Given the description of an element on the screen output the (x, y) to click on. 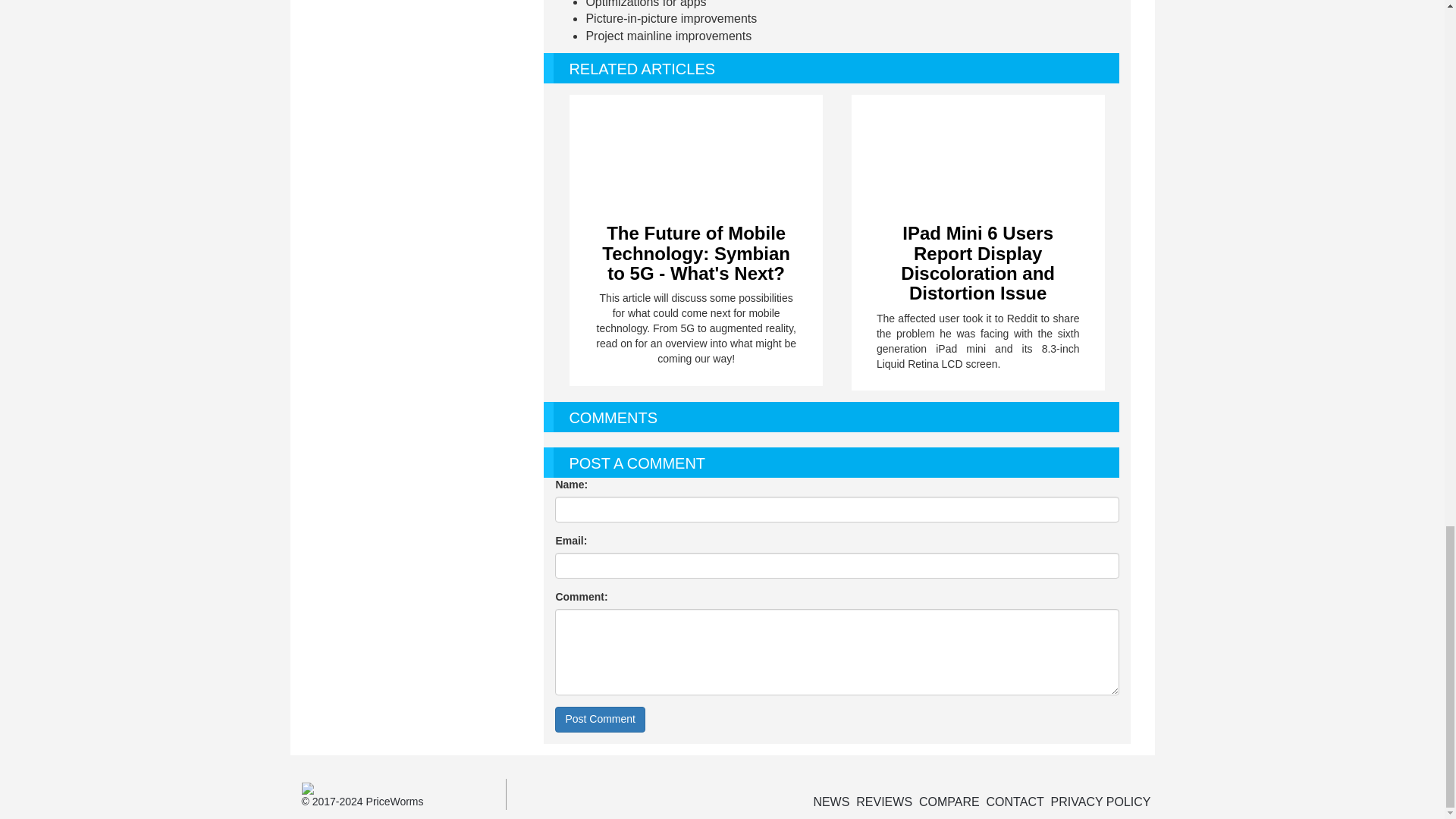
Post Comment (599, 719)
